Given the description of an element on the screen output the (x, y) to click on. 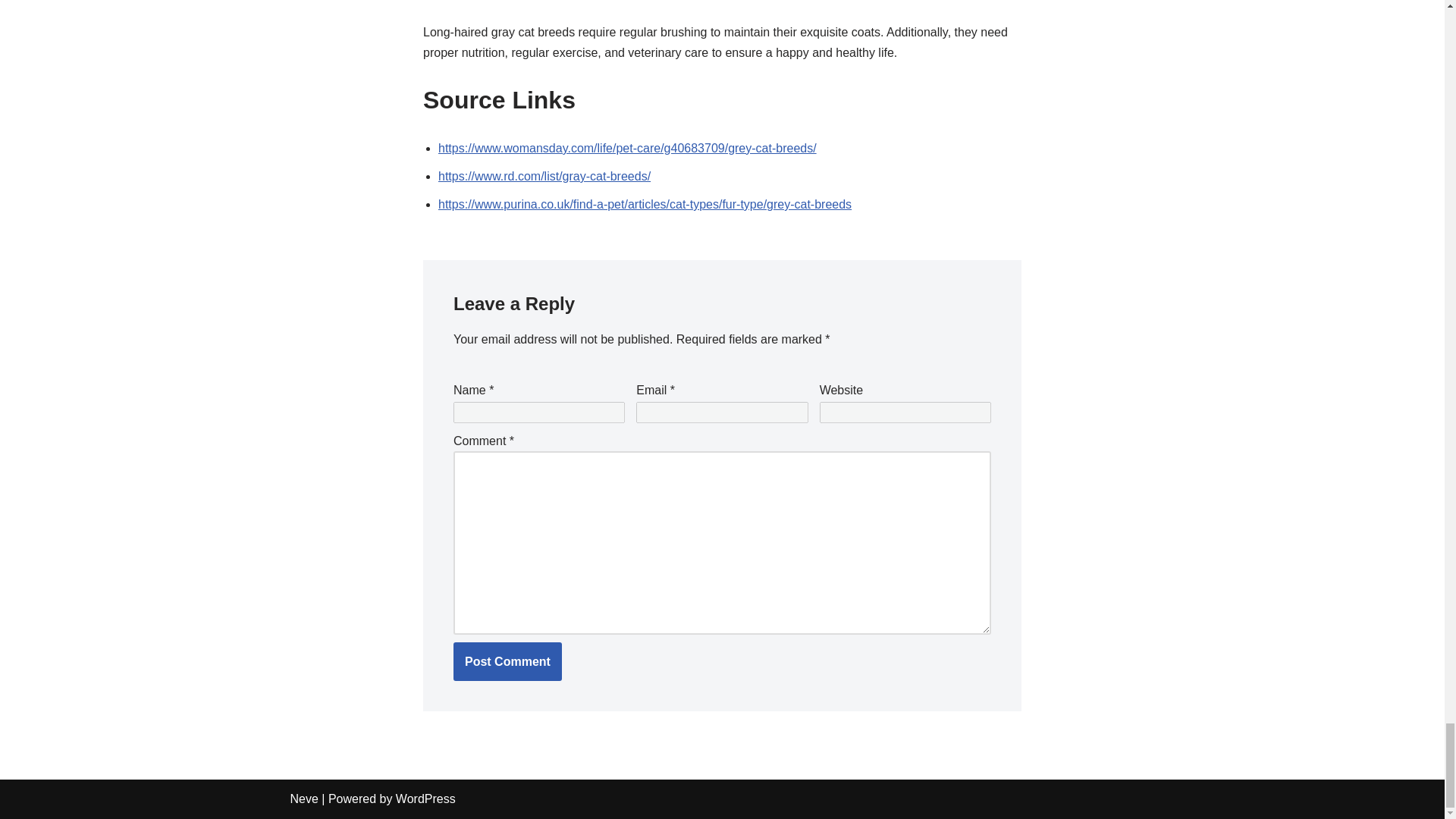
Post Comment (507, 661)
